Given the description of an element on the screen output the (x, y) to click on. 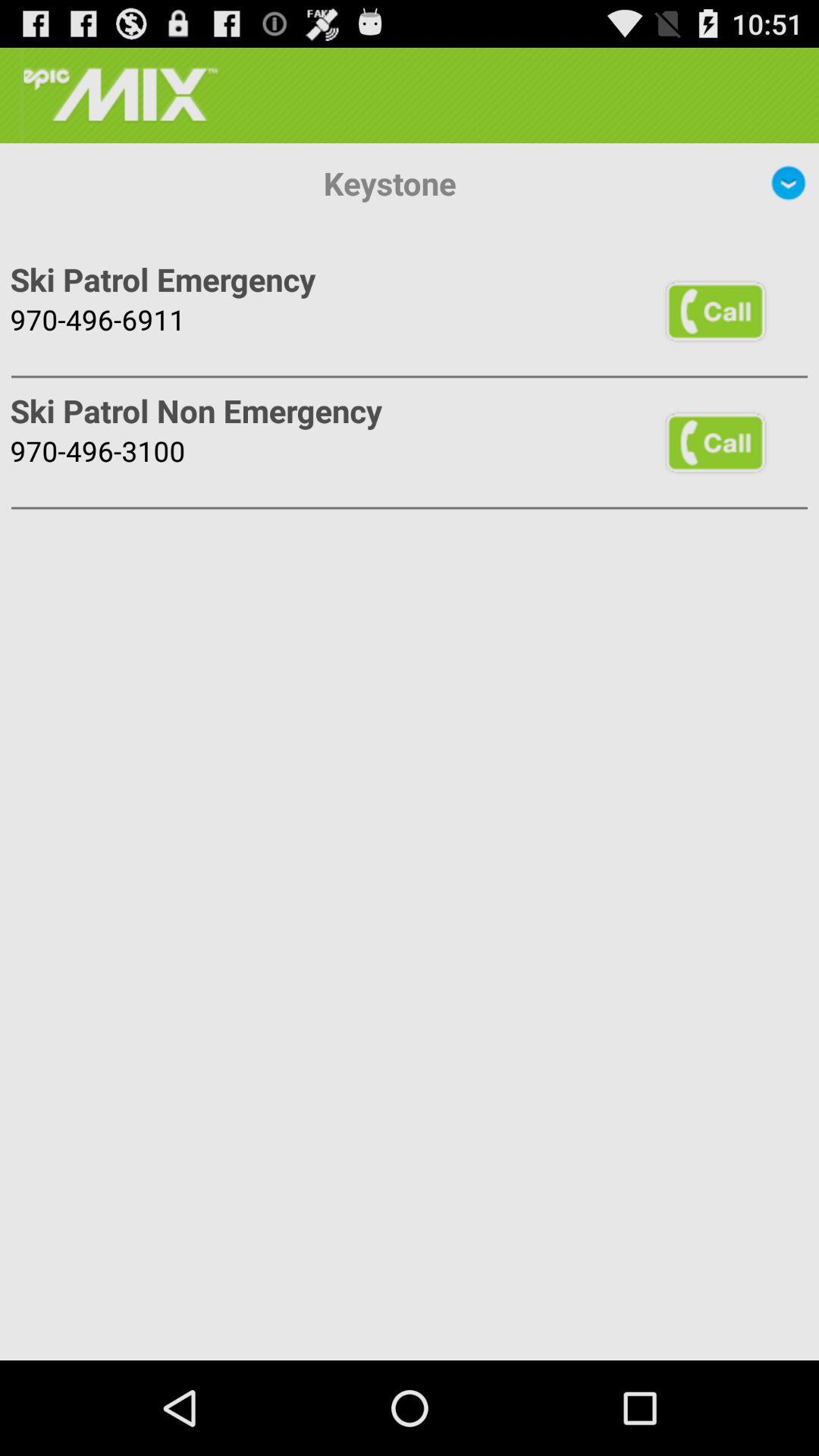
launch the icon to the right of the ski patrol emergency app (714, 310)
